Given the description of an element on the screen output the (x, y) to click on. 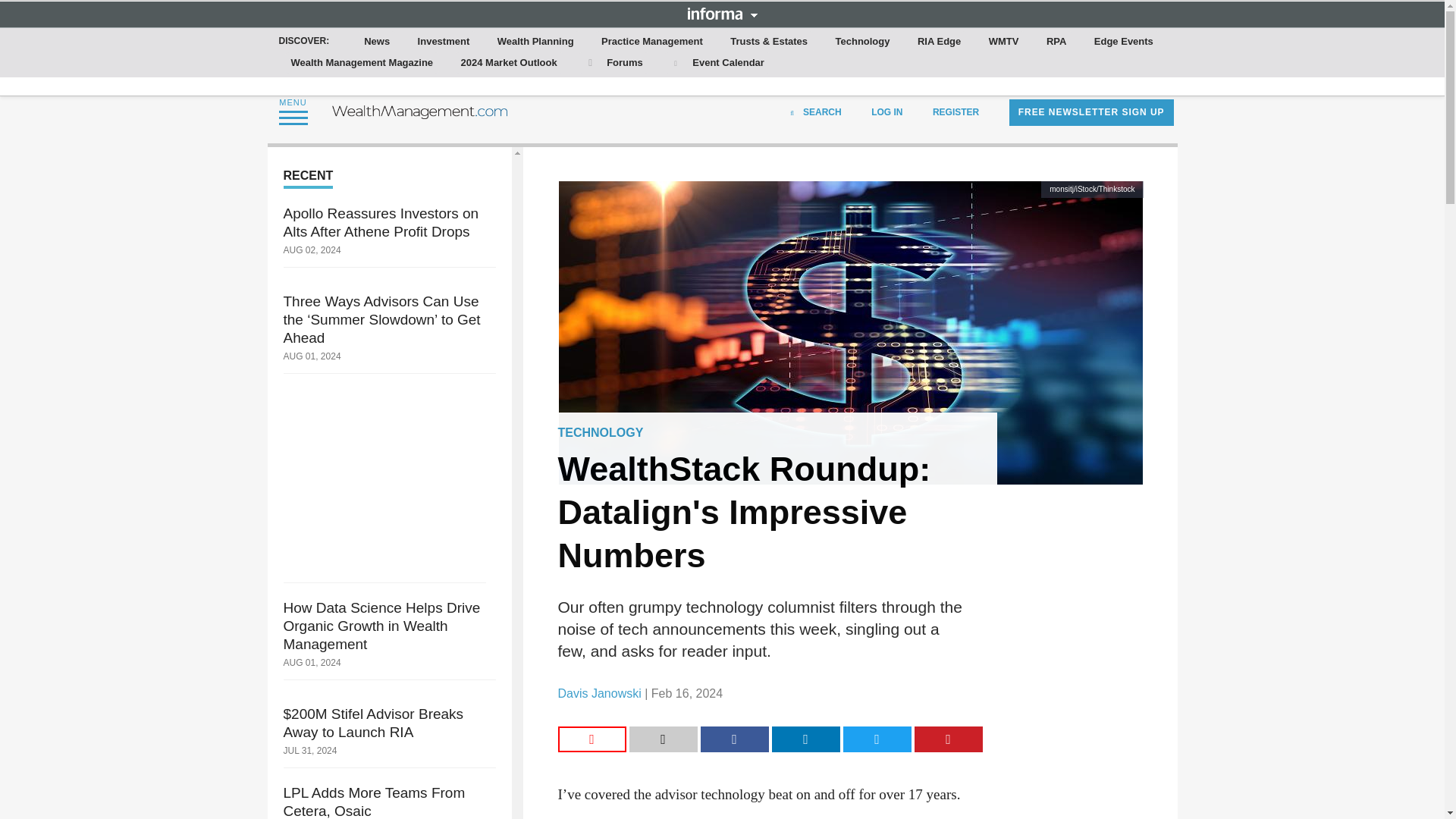
2024 Market Outlook (508, 62)
Event Calendar (716, 62)
Wealth Management Magazine (362, 62)
Forums (613, 62)
INFORMA (722, 13)
RIA Edge (938, 41)
Technology (862, 41)
RPA (1056, 41)
News (377, 41)
WMTV (1003, 41)
Investment (444, 41)
Practice Management (652, 41)
Wealth Planning (535, 41)
Edge Events (1122, 41)
